Given the description of an element on the screen output the (x, y) to click on. 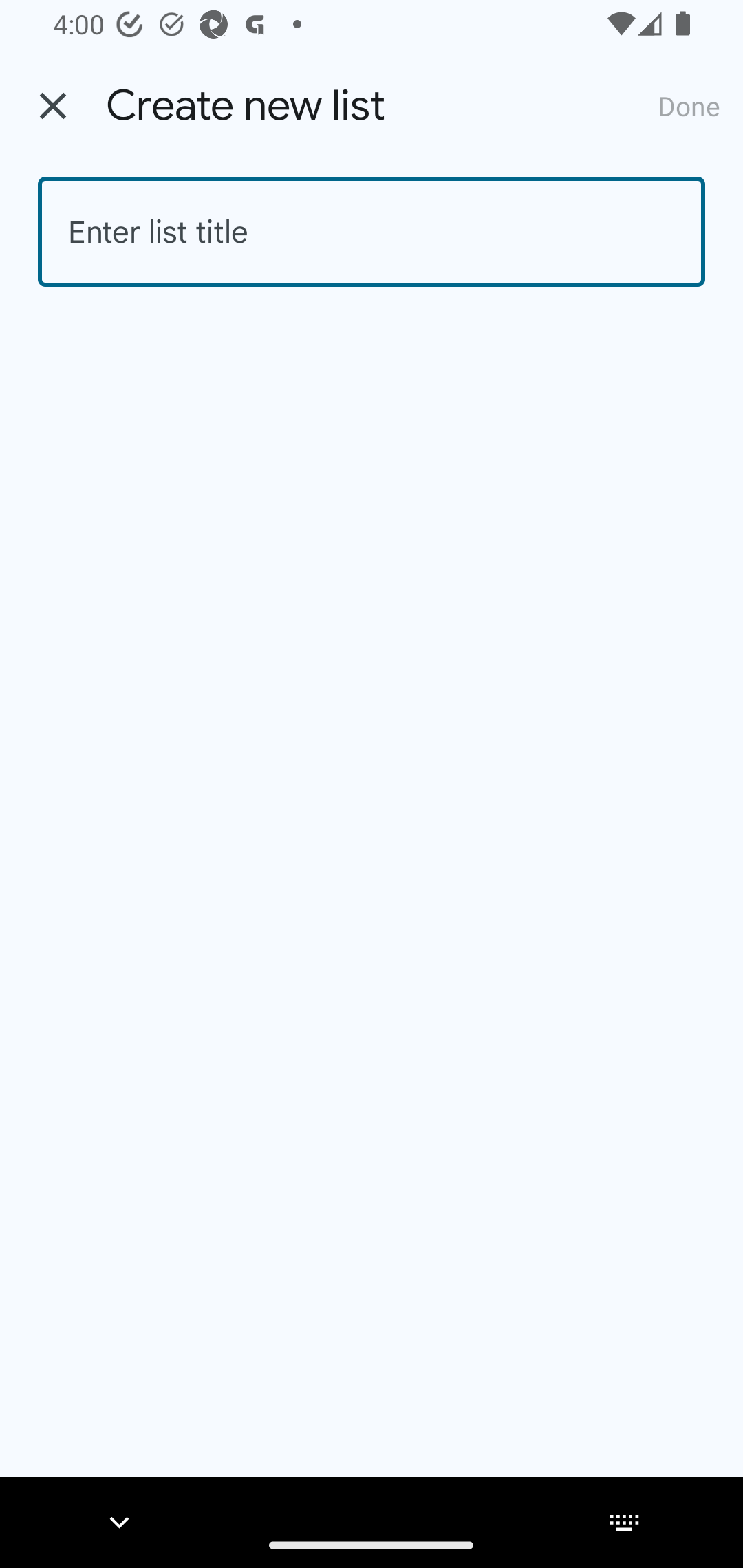
Back (53, 105)
Done (689, 105)
Enter list title (371, 231)
